Given the description of an element on the screen output the (x, y) to click on. 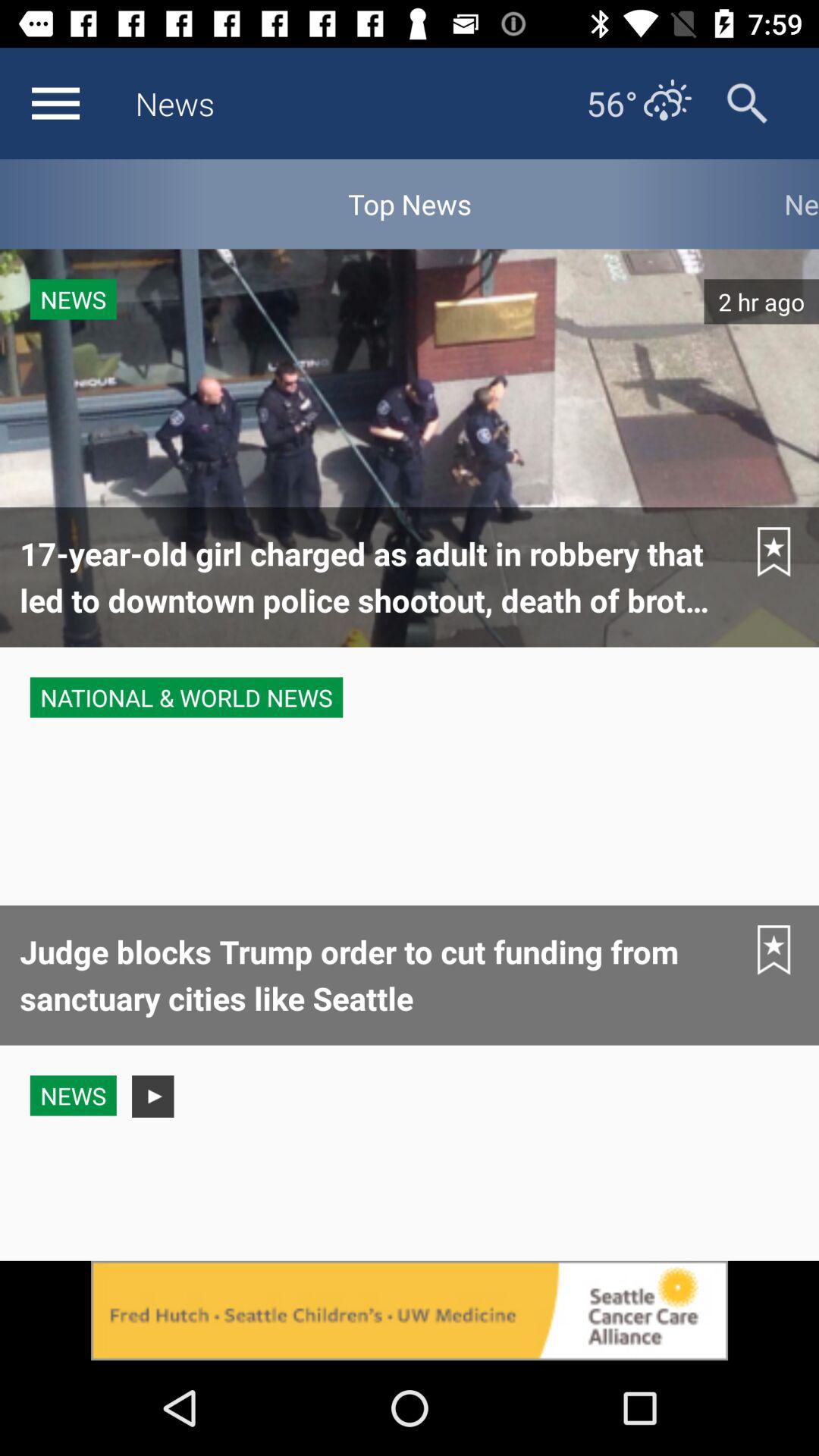
toggle navigation menu (55, 103)
